Given the description of an element on the screen output the (x, y) to click on. 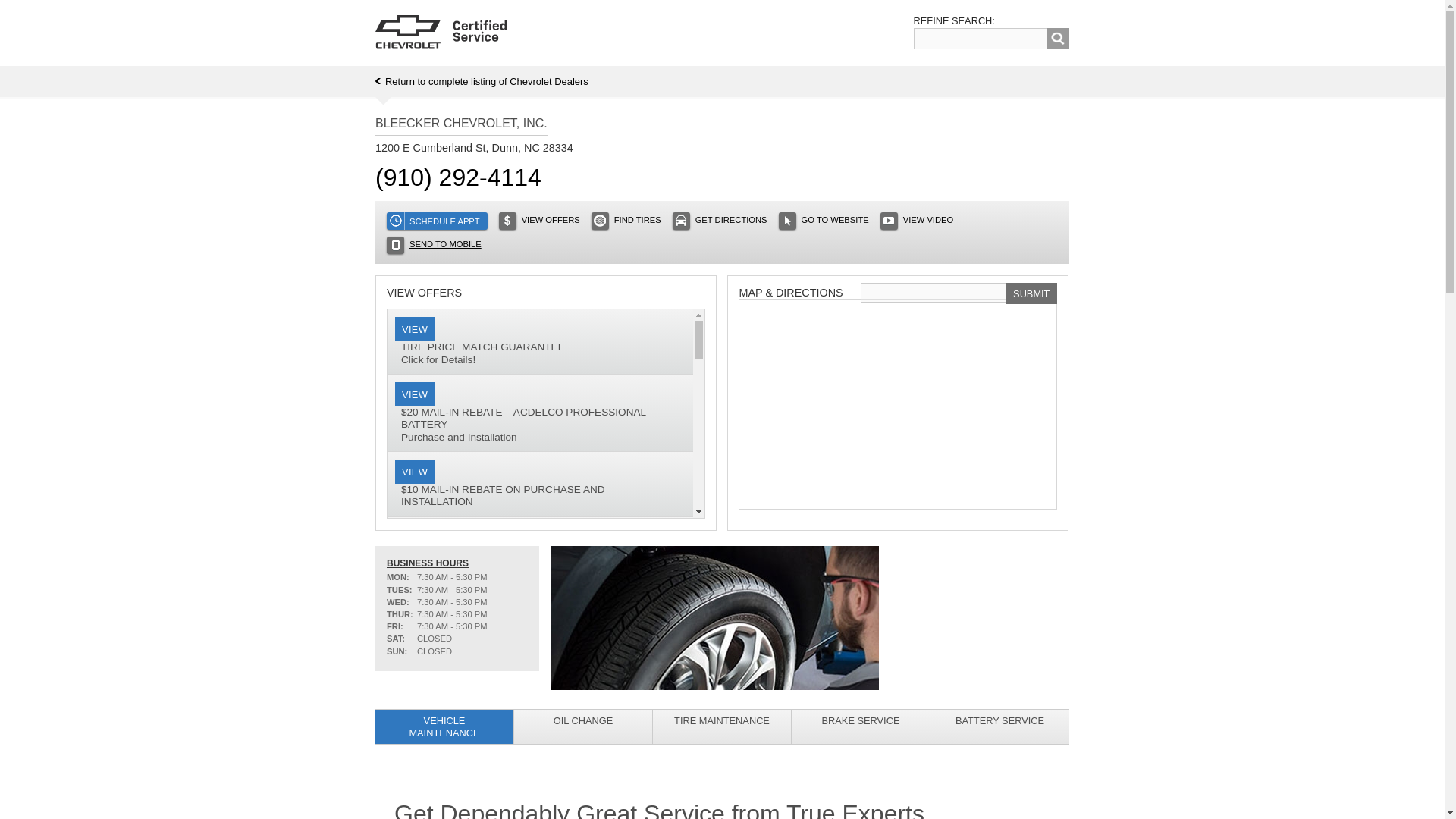
GO TO WEBSITE (823, 221)
GET DIRECTIONS (719, 221)
VIEW OFFERS (539, 221)
SEND TO MOBILE (434, 244)
SUBMIT (1031, 292)
VIEW VIDEO (540, 341)
City, State or ZIP code field (916, 221)
SCHEDULE APPT (981, 38)
Return to complete listing of Chevrolet Dealers (437, 221)
FIND TIRES (481, 81)
your address input (626, 221)
